Given the description of an element on the screen output the (x, y) to click on. 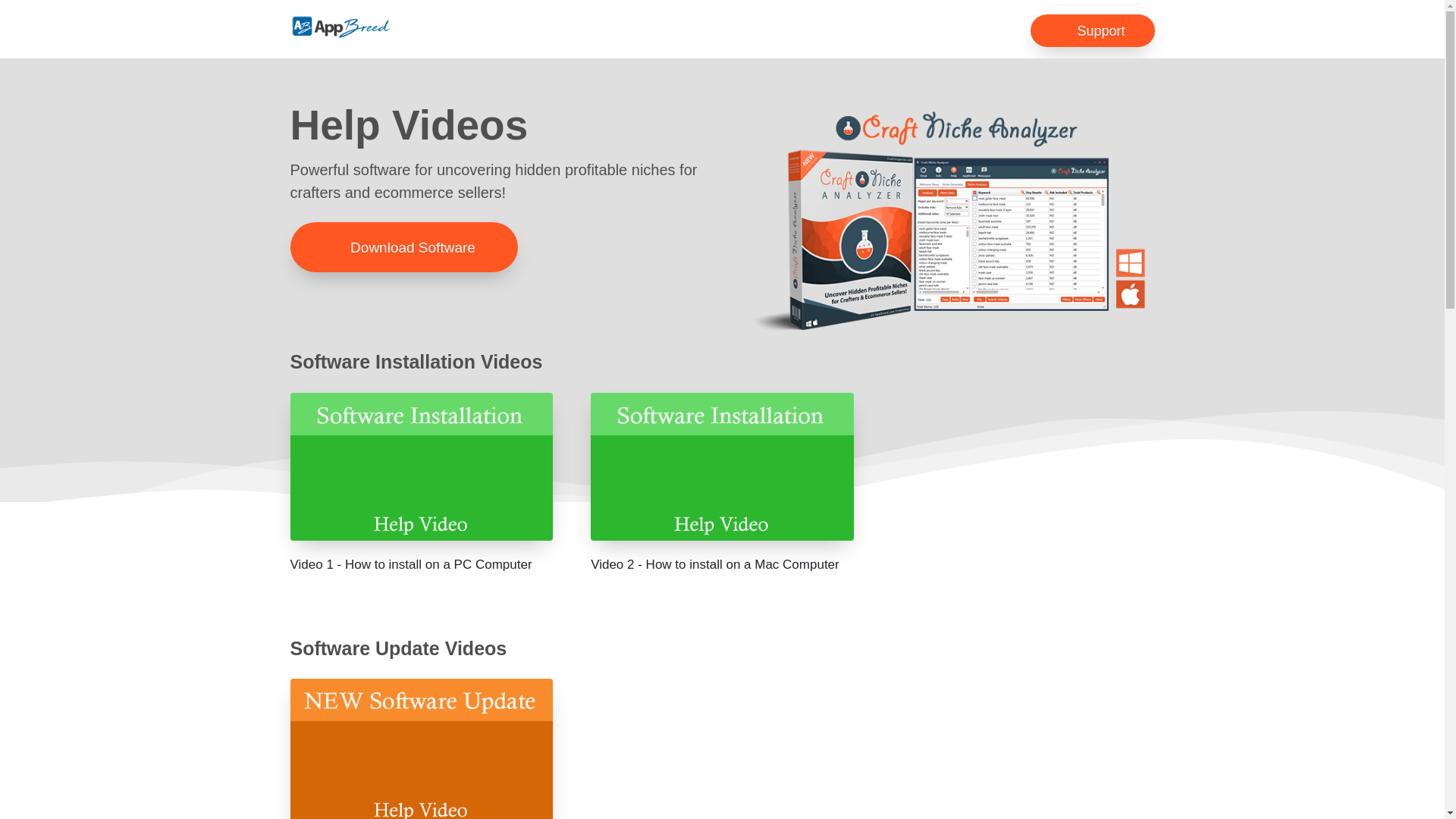
Support (1091, 30)
appbreed-logo-new-small-2 (339, 26)
Download Software (402, 246)
craft niche analyzer 600 (950, 219)
